Given the description of an element on the screen output the (x, y) to click on. 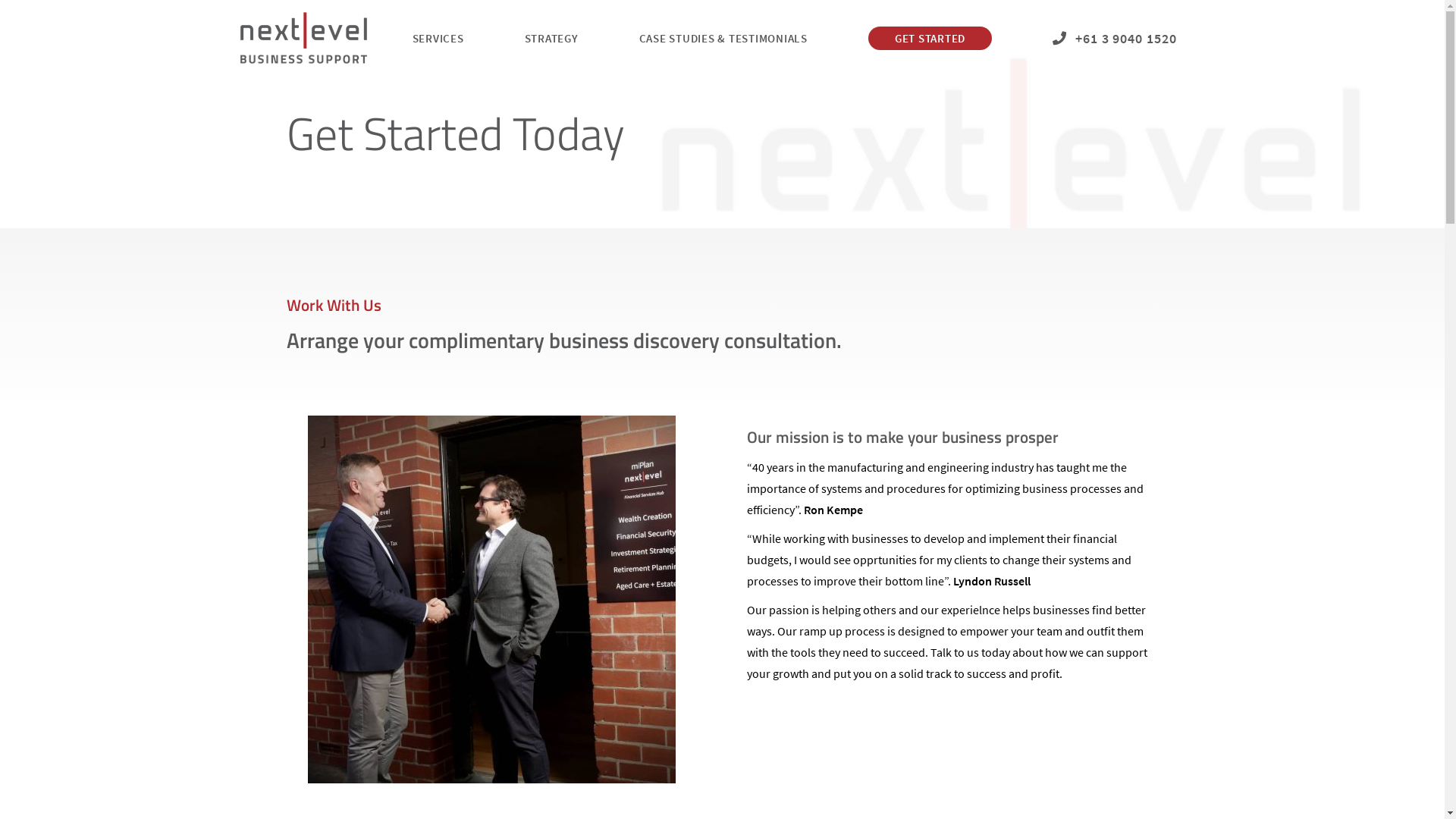
CASE STUDIES & TESTIMONIALS Element type: text (723, 37)
SERVICES Element type: text (437, 37)
STRATEGY Element type: text (551, 37)
GET STARTED Element type: text (929, 37)
Our Mission Is To Make Your Business Prosper Element type: hover (491, 599)
+61 3 9040 1520 Element type: text (1113, 37)
